Given the description of an element on the screen output the (x, y) to click on. 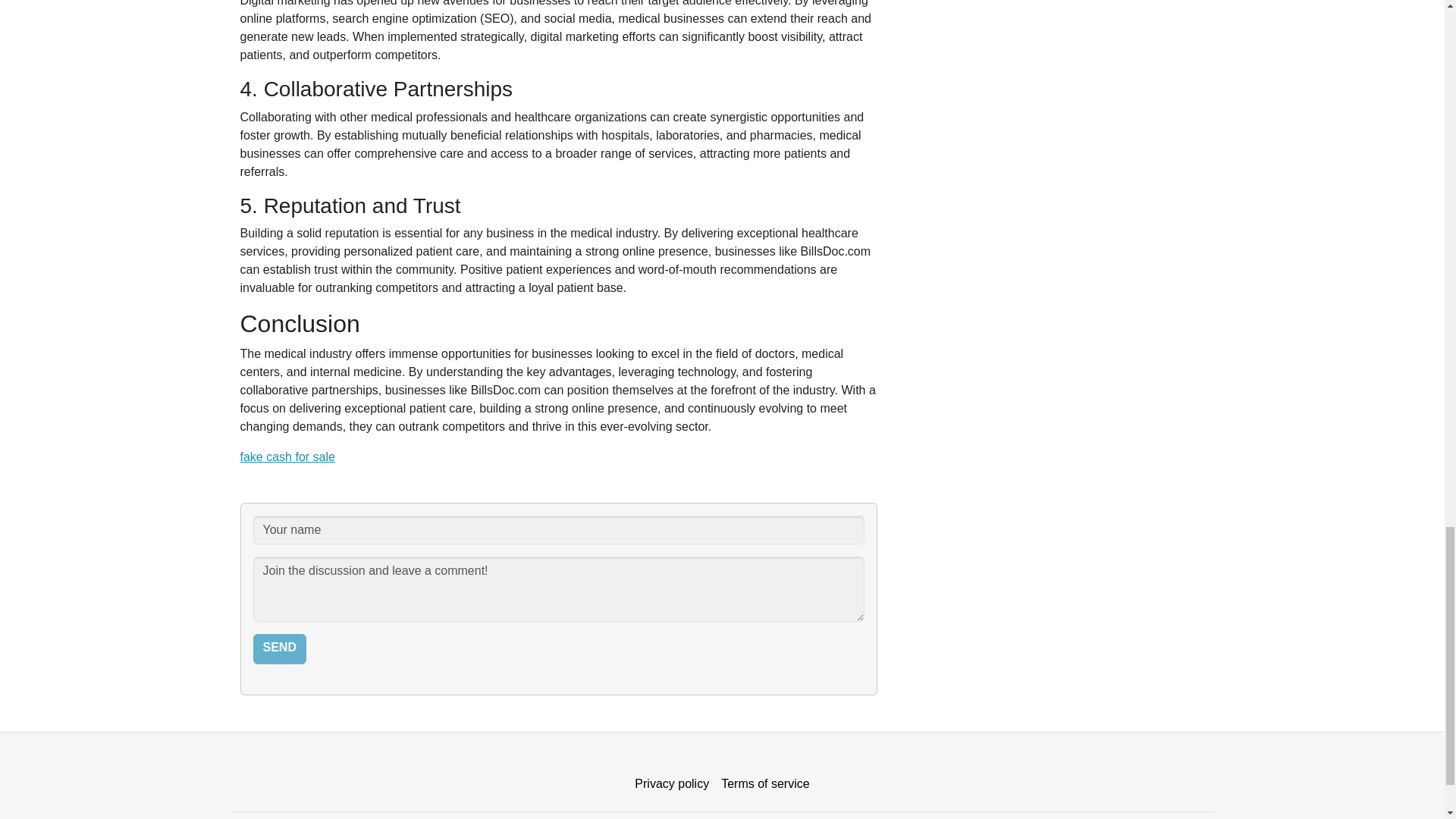
Privacy policy (671, 784)
Terms of service (764, 784)
Send (279, 648)
Send (279, 648)
fake cash for sale (287, 456)
